Given the description of an element on the screen output the (x, y) to click on. 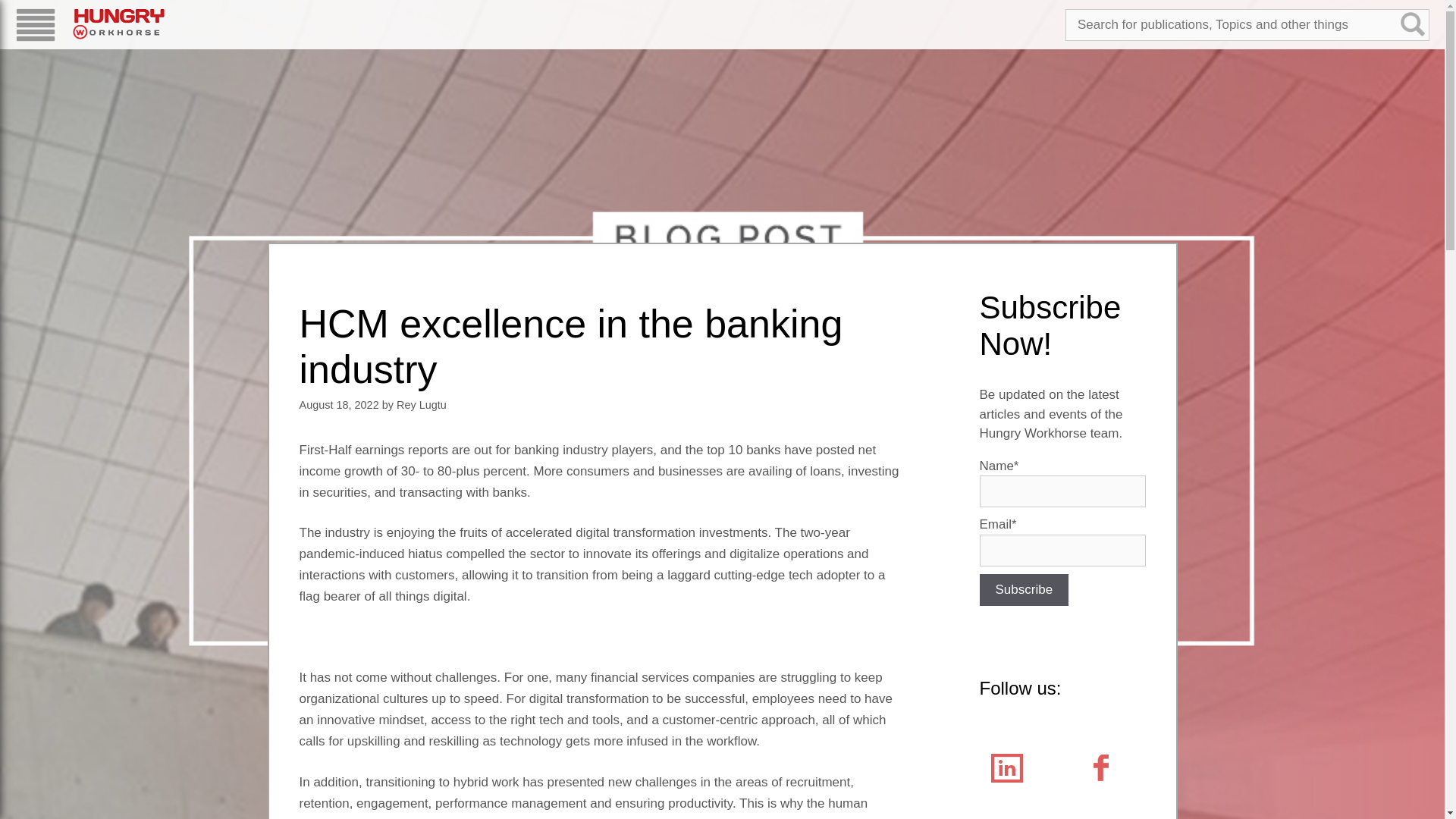
Subscribe (1023, 590)
View all posts by Rey Lugtu (421, 404)
Rey Lugtu (421, 404)
Subscribe (1023, 590)
